Given the description of an element on the screen output the (x, y) to click on. 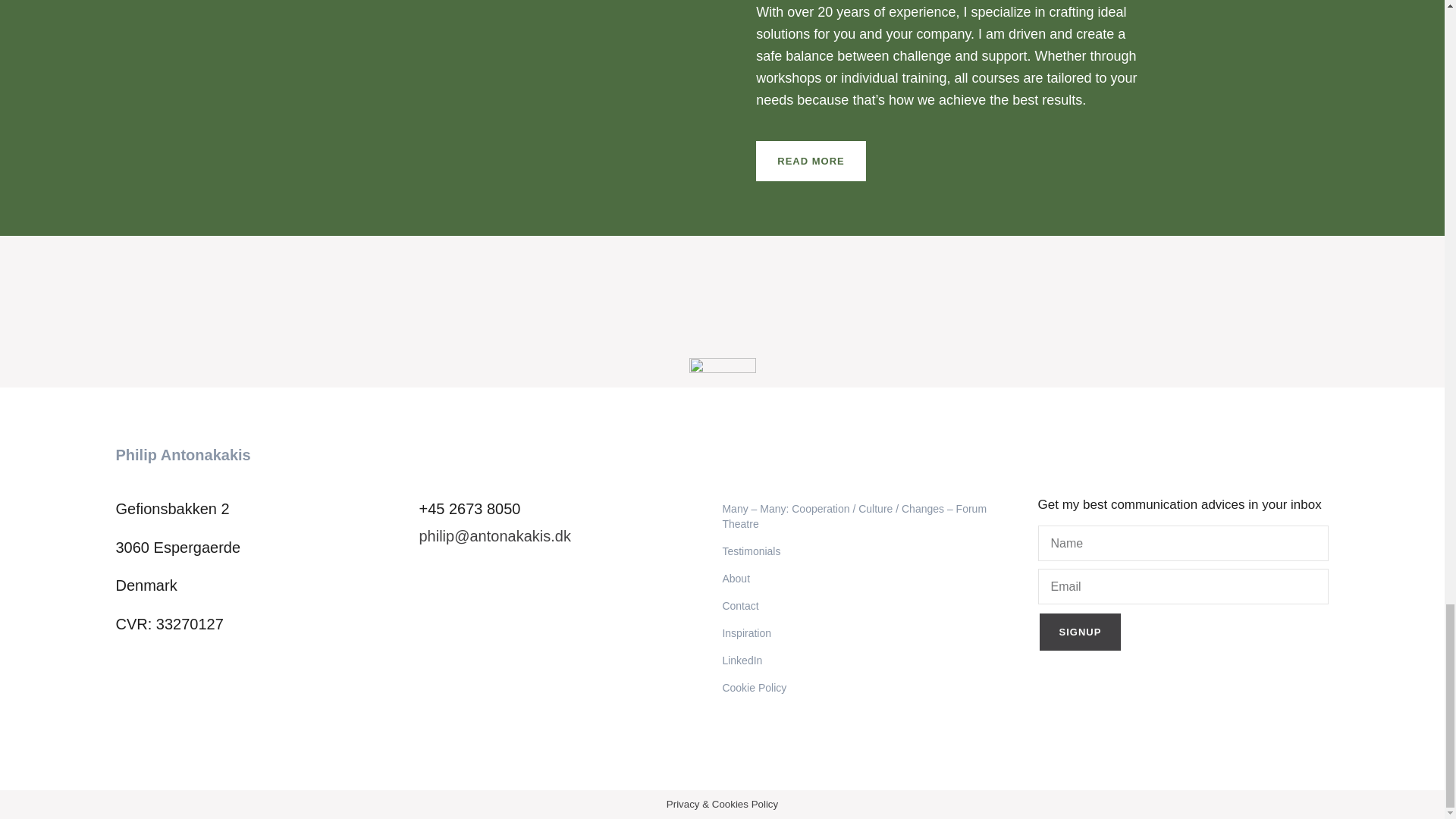
Contact (872, 605)
READ MORE (809, 160)
Inspiration (872, 633)
Testimonials (872, 551)
About (872, 578)
Cookie Policy (872, 687)
LinkedIn (872, 660)
